Given the description of an element on the screen output the (x, y) to click on. 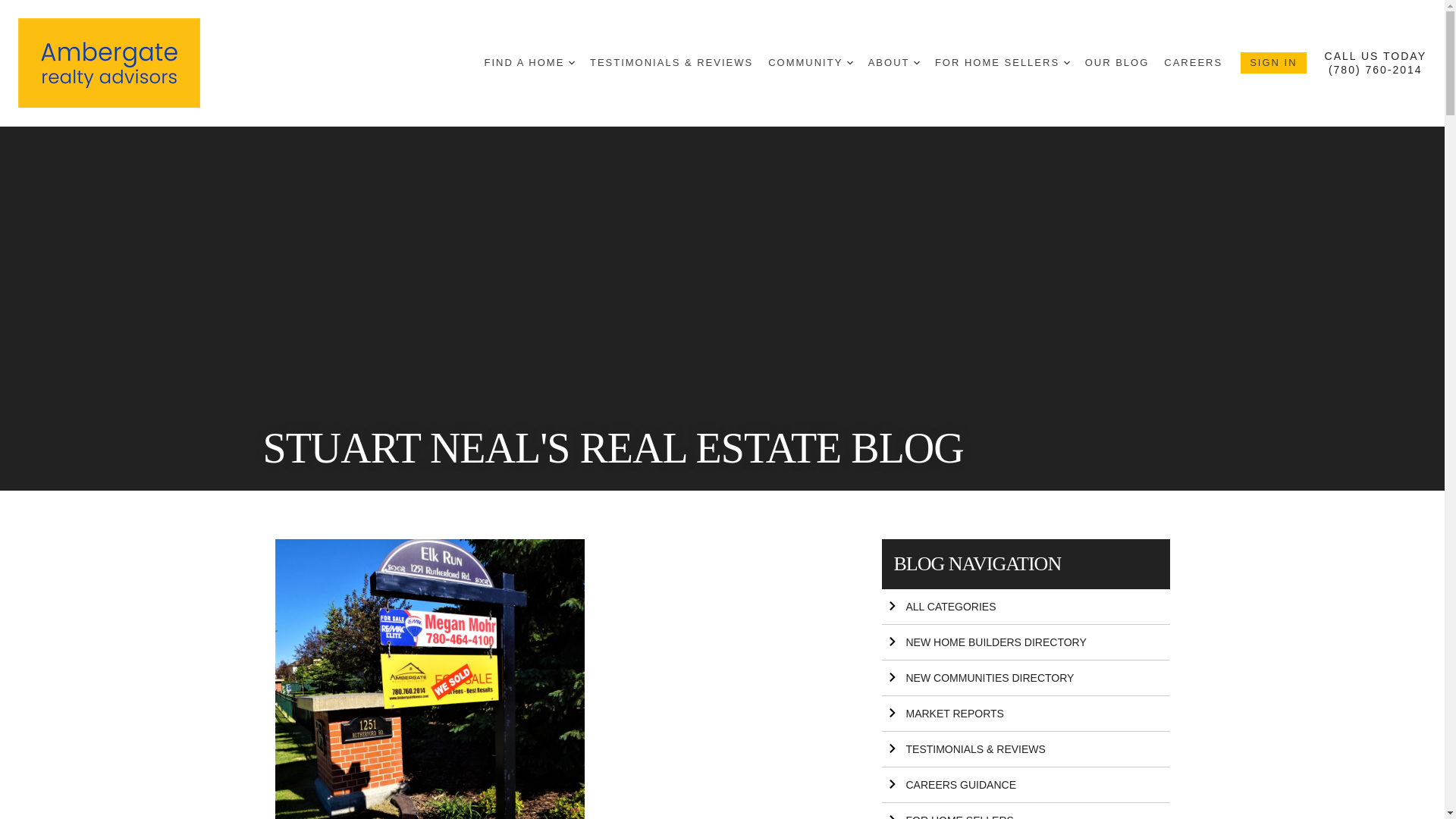
COMMUNITY DROPDOWN ARROW (810, 63)
OUR BLOG (1117, 63)
FOR HOME SELLERS DROPDOWN ARROW (1002, 63)
DROPDOWN ARROW (917, 62)
DROPDOWN ARROW (1067, 62)
DROPDOWN ARROW (850, 62)
ABOUT DROPDOWN ARROW (893, 63)
DROPDOWN ARROW (572, 62)
CAREERS (1193, 63)
FIND A HOME DROPDOWN ARROW (529, 63)
